Given the description of an element on the screen output the (x, y) to click on. 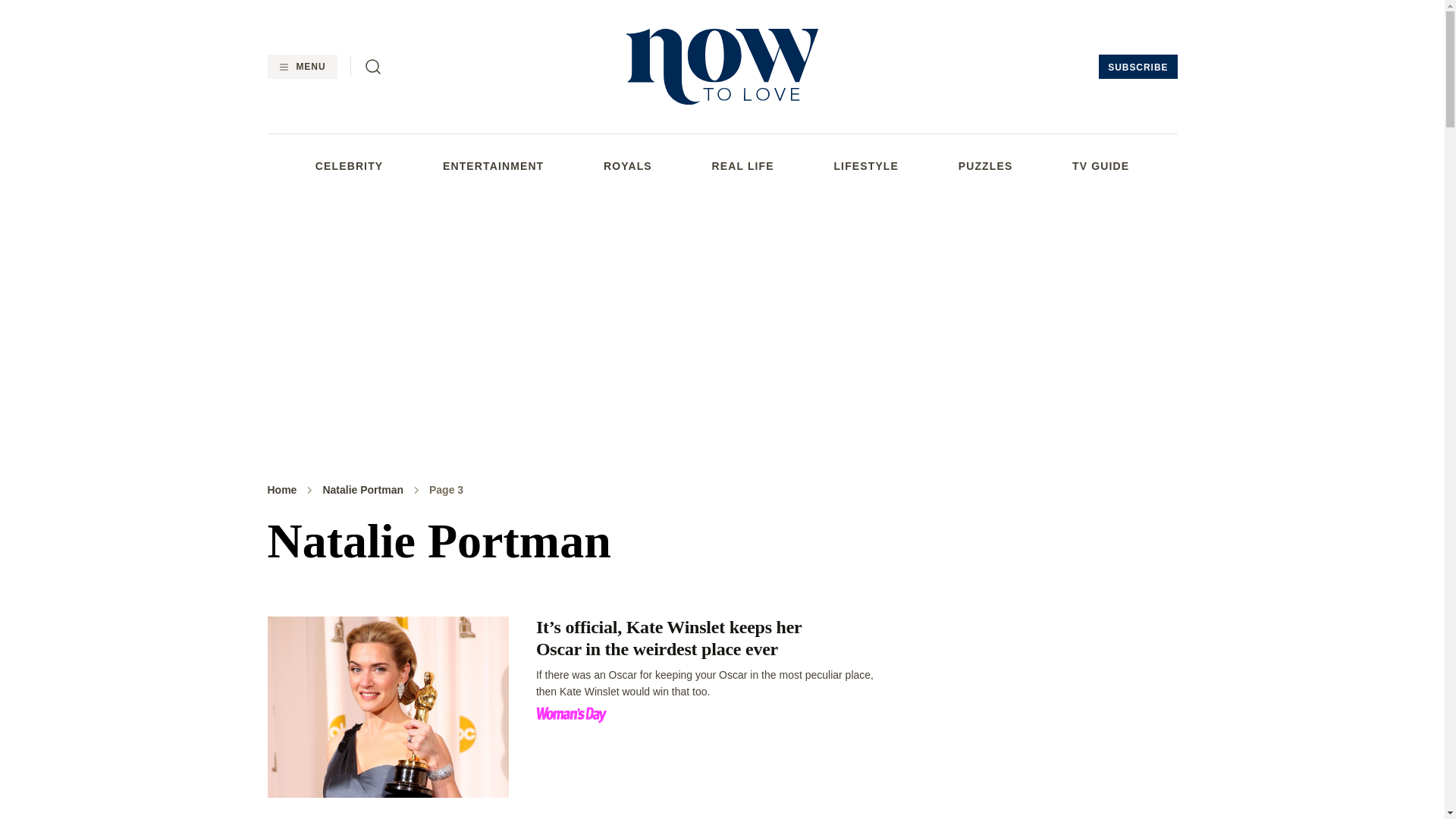
ENTERTAINMENT (492, 165)
3rd party ad content (1055, 710)
LIFESTYLE (865, 165)
TV GUIDE (1100, 165)
3rd party ad content (721, 325)
PUZZLES (985, 165)
REAL LIFE (742, 165)
MENU (301, 66)
ROYALS (628, 165)
CELEBRITY (348, 165)
SUBSCRIBE (1137, 66)
